Given the description of an element on the screen output the (x, y) to click on. 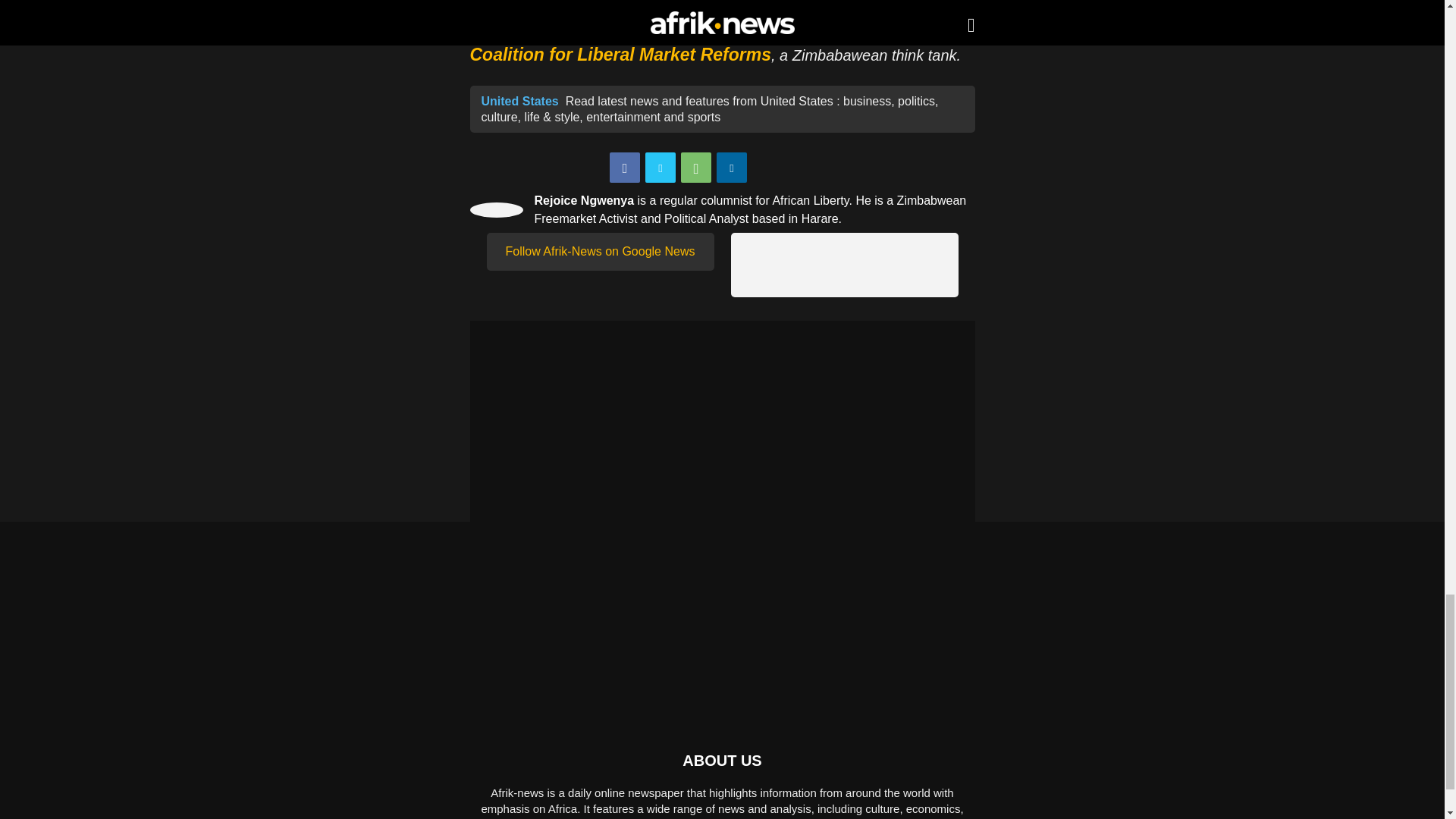
Facebook Like (794, 168)
Support us! Buy us a coffee! (844, 264)
WhatsApp (696, 167)
Linkedin (731, 167)
Twitter (660, 167)
Facebook (625, 167)
